Given the description of an element on the screen output the (x, y) to click on. 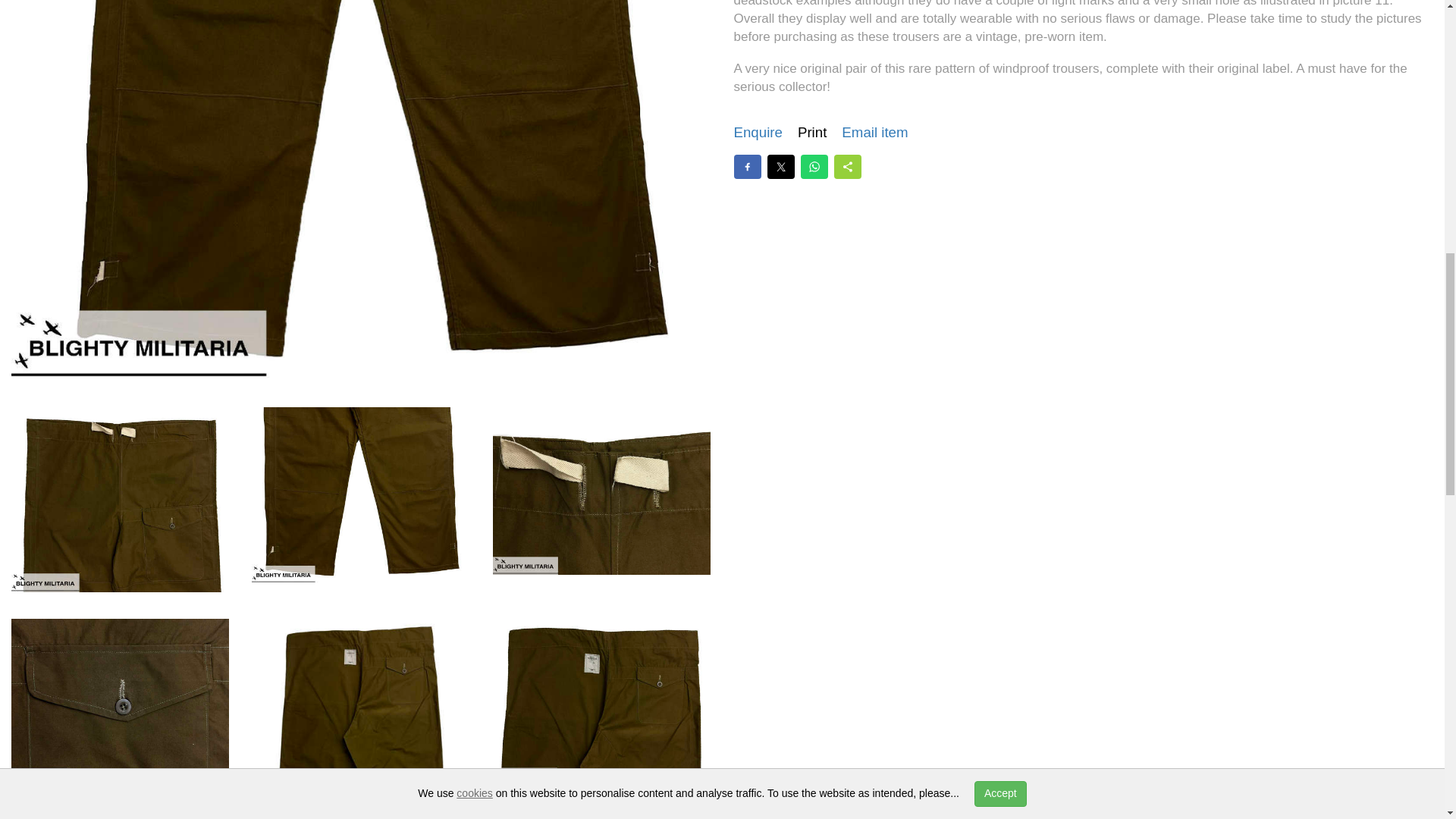
Print (812, 132)
Email item (874, 132)
Enquire (758, 132)
